Given the description of an element on the screen output the (x, y) to click on. 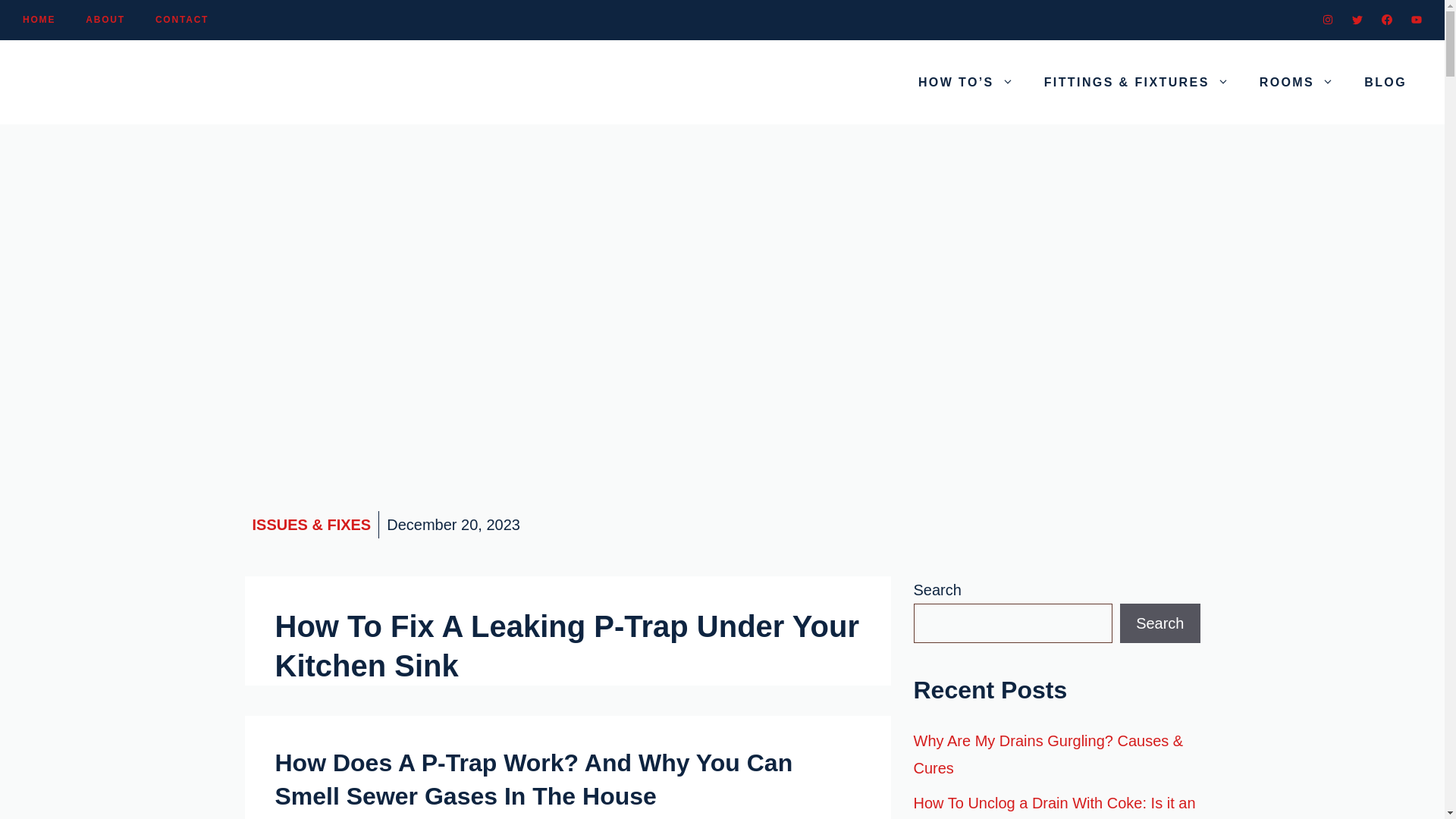
ROOMS (1296, 82)
BLOG (1385, 82)
CONTACT (181, 20)
ABOUT (105, 20)
HOME (39, 20)
